Given the description of an element on the screen output the (x, y) to click on. 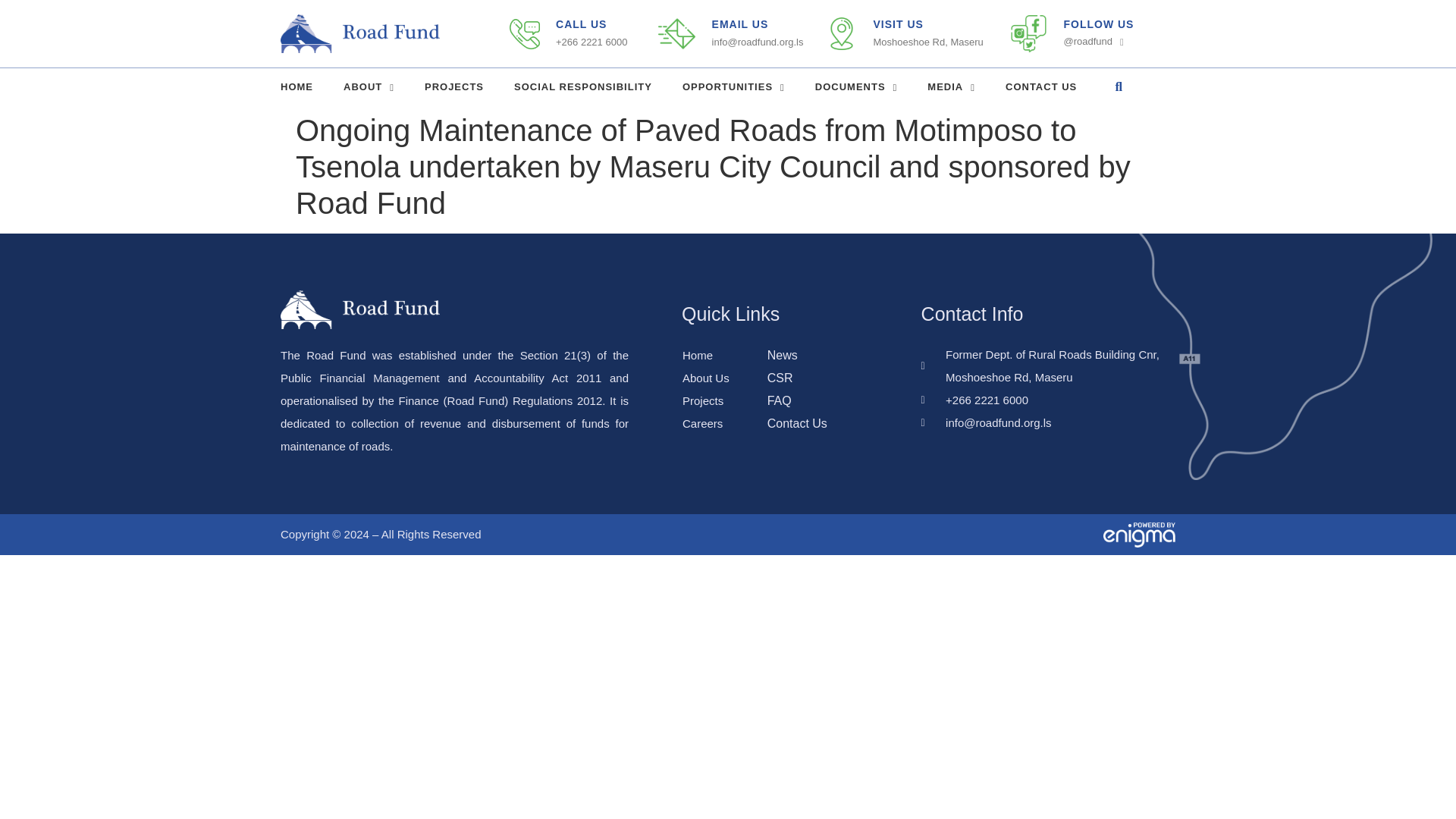
CALL US (581, 24)
VISIT US (898, 24)
FOLLOW US (1098, 24)
